Given the description of an element on the screen output the (x, y) to click on. 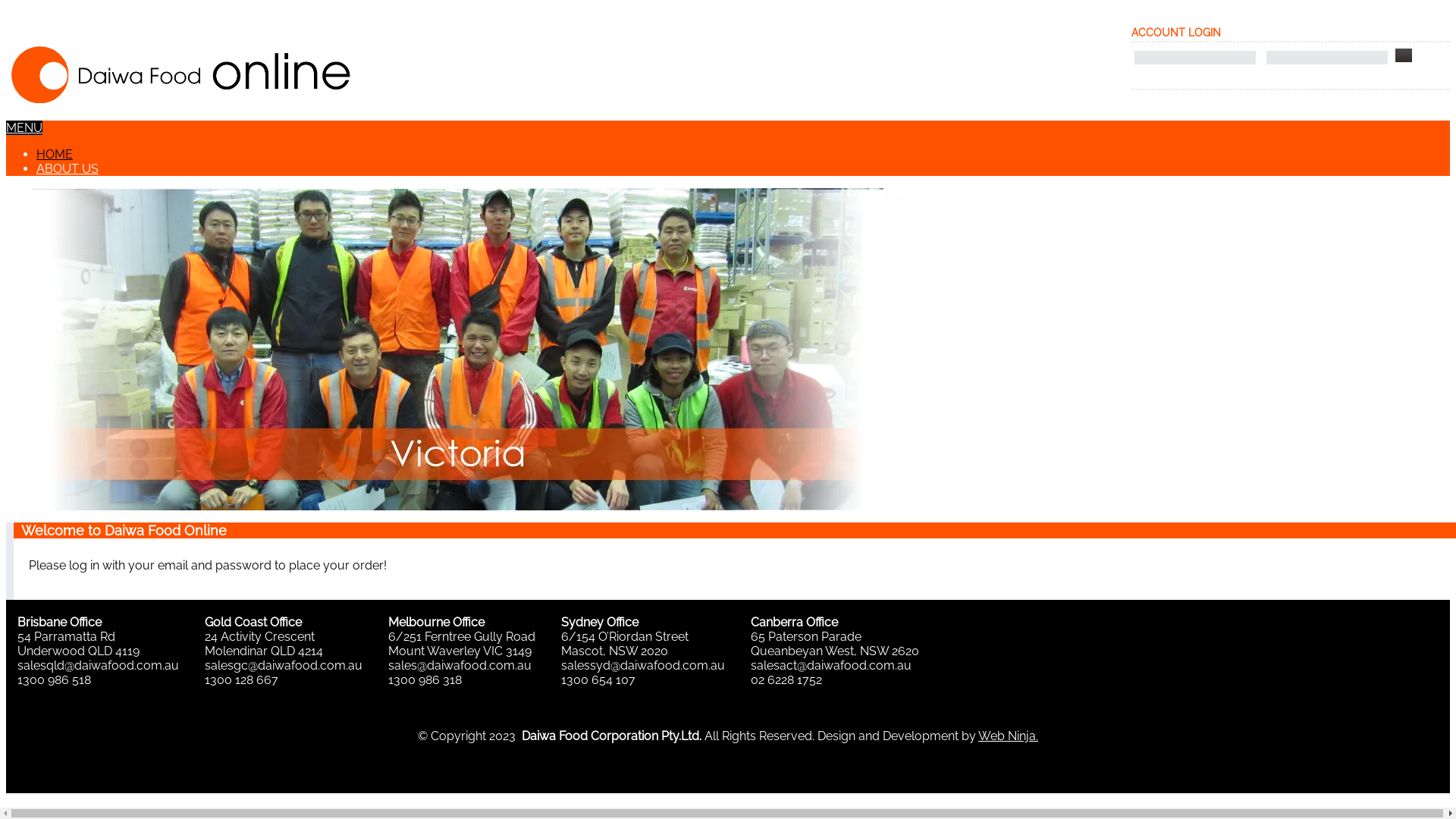
HOME Element type: text (54, 154)
Login Element type: text (1403, 55)
Forgot Password? Element type: text (1197, 91)
ABOUT US Element type: text (67, 168)
MENU Element type: text (24, 127)
Web Ninja. Element type: text (1008, 735)
